Given the description of an element on the screen output the (x, y) to click on. 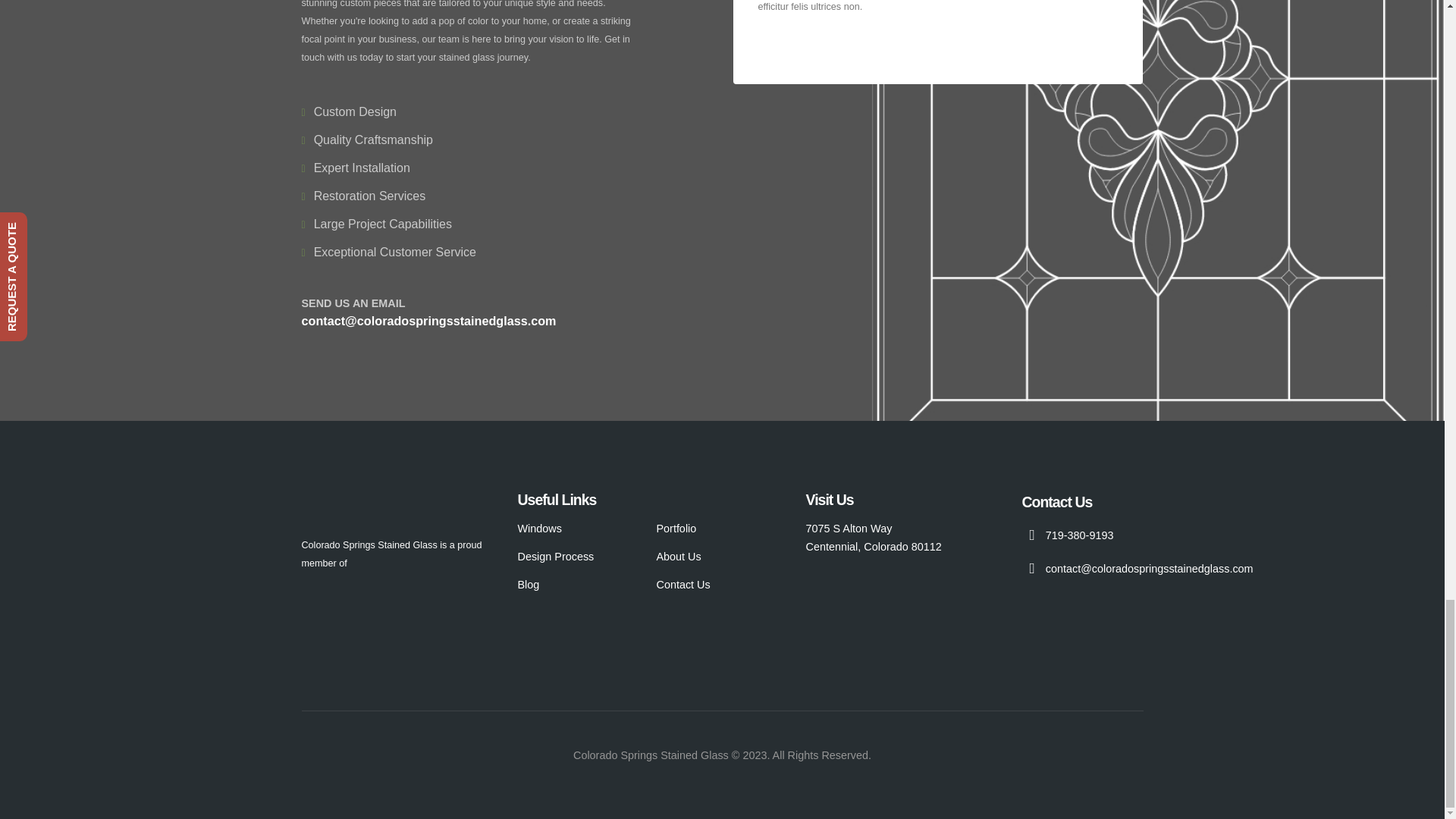
Phone (1079, 535)
Email (1149, 568)
